Given the description of an element on the screen output the (x, y) to click on. 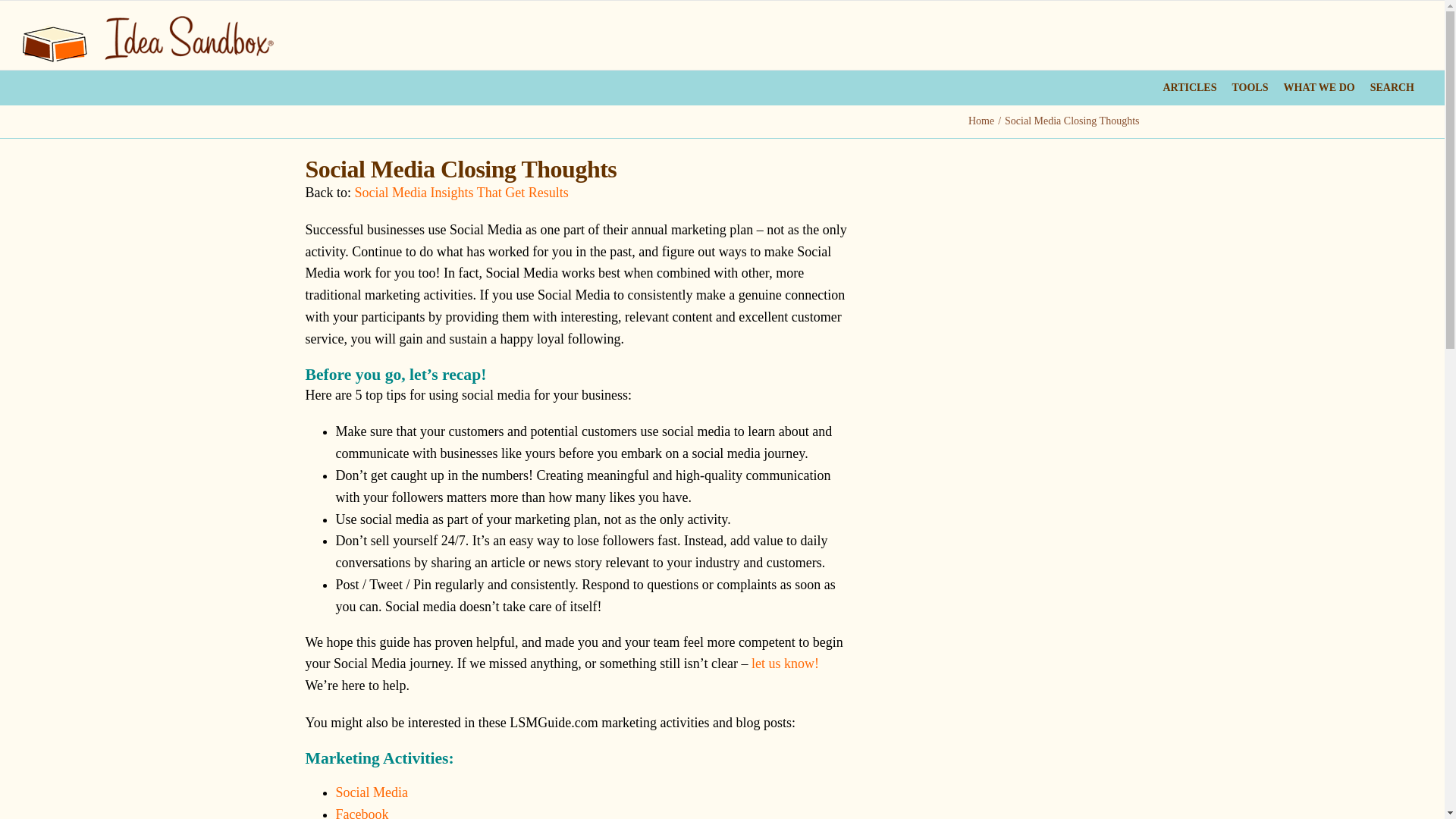
TOOLS (1249, 87)
let us know! (784, 663)
ARTICLES (1189, 87)
SEARCH (1392, 87)
WHAT WE DO (1318, 87)
Social Media Insights That Get Results (462, 192)
Facebook (361, 812)
Social Media (370, 792)
Home (981, 120)
